Given the description of an element on the screen output the (x, y) to click on. 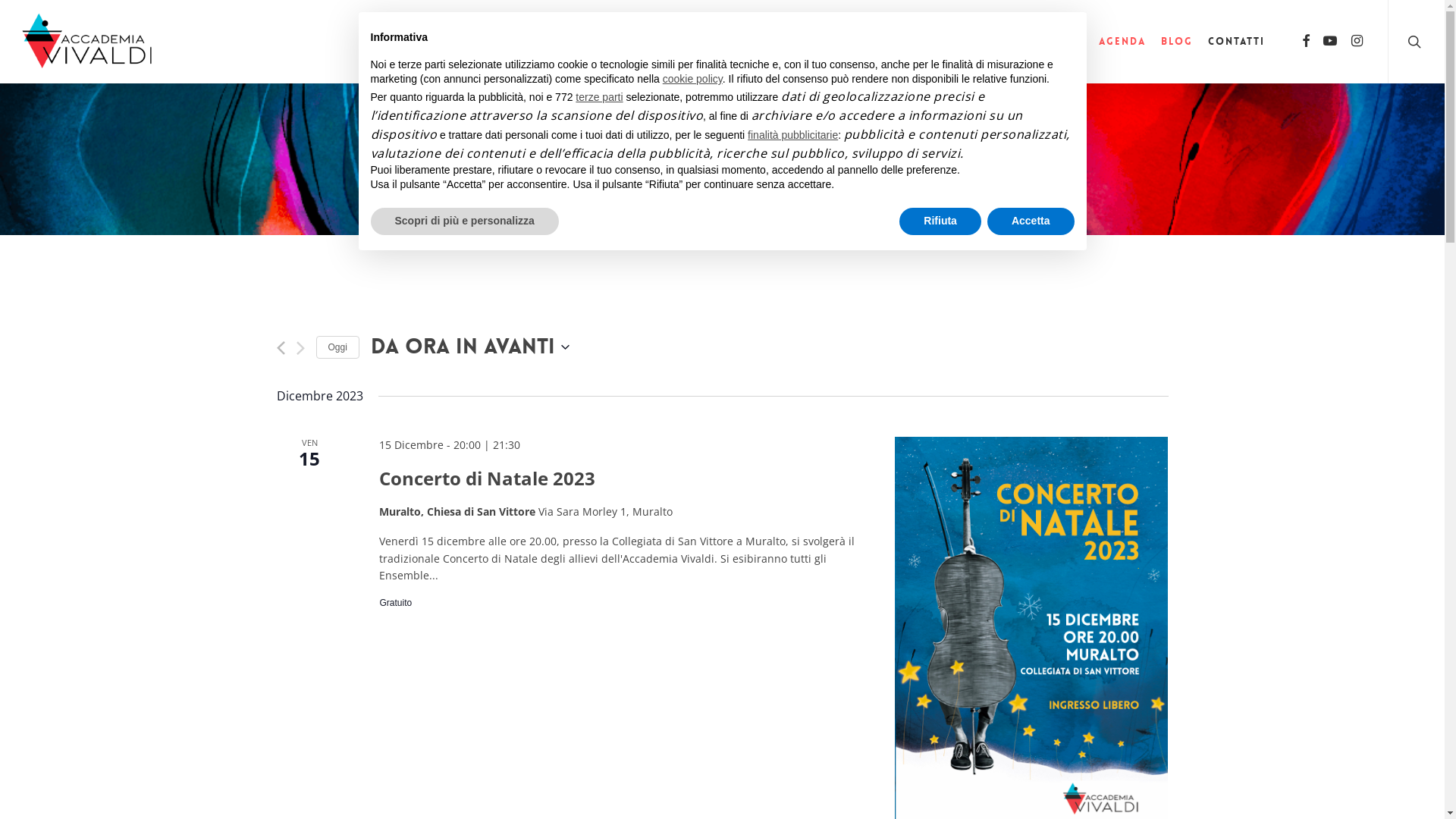
Concerto di Natale 2023 Element type: text (487, 478)
Home Element type: text (935, 41)
instagram Element type: text (1357, 41)
Oggi Element type: text (336, 347)
Blog Element type: text (1176, 41)
Prossimo Eventi Element type: hover (299, 347)
Chi siamo Element type: text (999, 41)
Corsi Element type: text (1065, 41)
Contatti Element type: text (1236, 41)
terze parti Element type: text (598, 97)
Agenda Element type: text (1122, 41)
search Element type: text (1415, 41)
youtube Element type: text (1329, 41)
Da ora in avanti Element type: text (470, 347)
cookie policy Element type: text (692, 78)
Accetta Element type: text (1030, 221)
Rifiuta Element type: text (940, 221)
facebook Element type: text (1305, 41)
Precedente Eventi Element type: hover (280, 347)
